Given the description of an element on the screen output the (x, y) to click on. 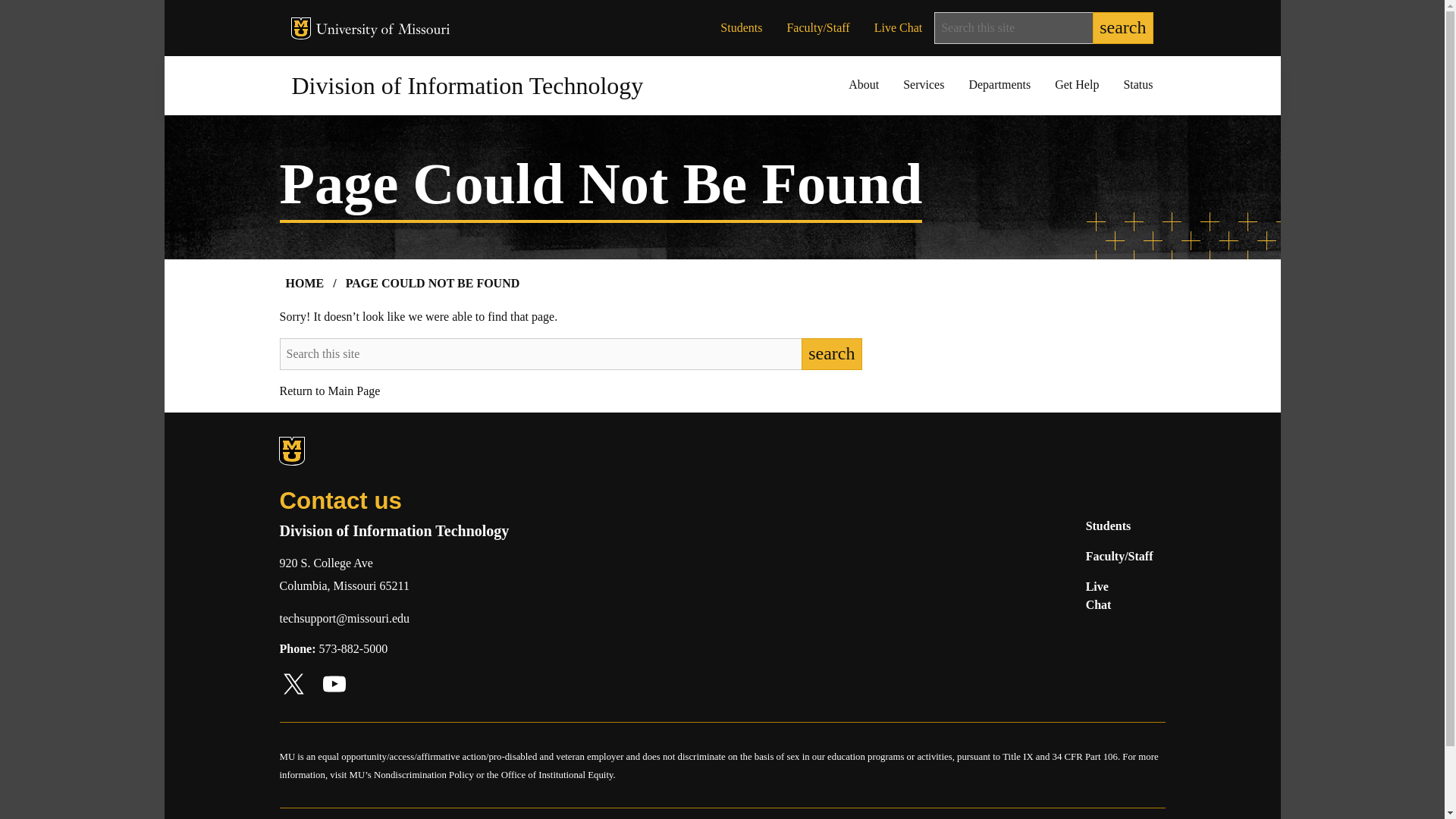
University of Missouri (382, 30)
University of Missouri (397, 452)
Students (1108, 526)
About (863, 85)
Students (740, 28)
Get Help (1076, 85)
Departments (999, 85)
search (831, 354)
Division of Information Technology (467, 85)
X (292, 683)
MU Logo (301, 27)
search (1123, 28)
Live Chat (1099, 595)
HOME (304, 283)
Division of Information Technology (467, 85)
